Given the description of an element on the screen output the (x, y) to click on. 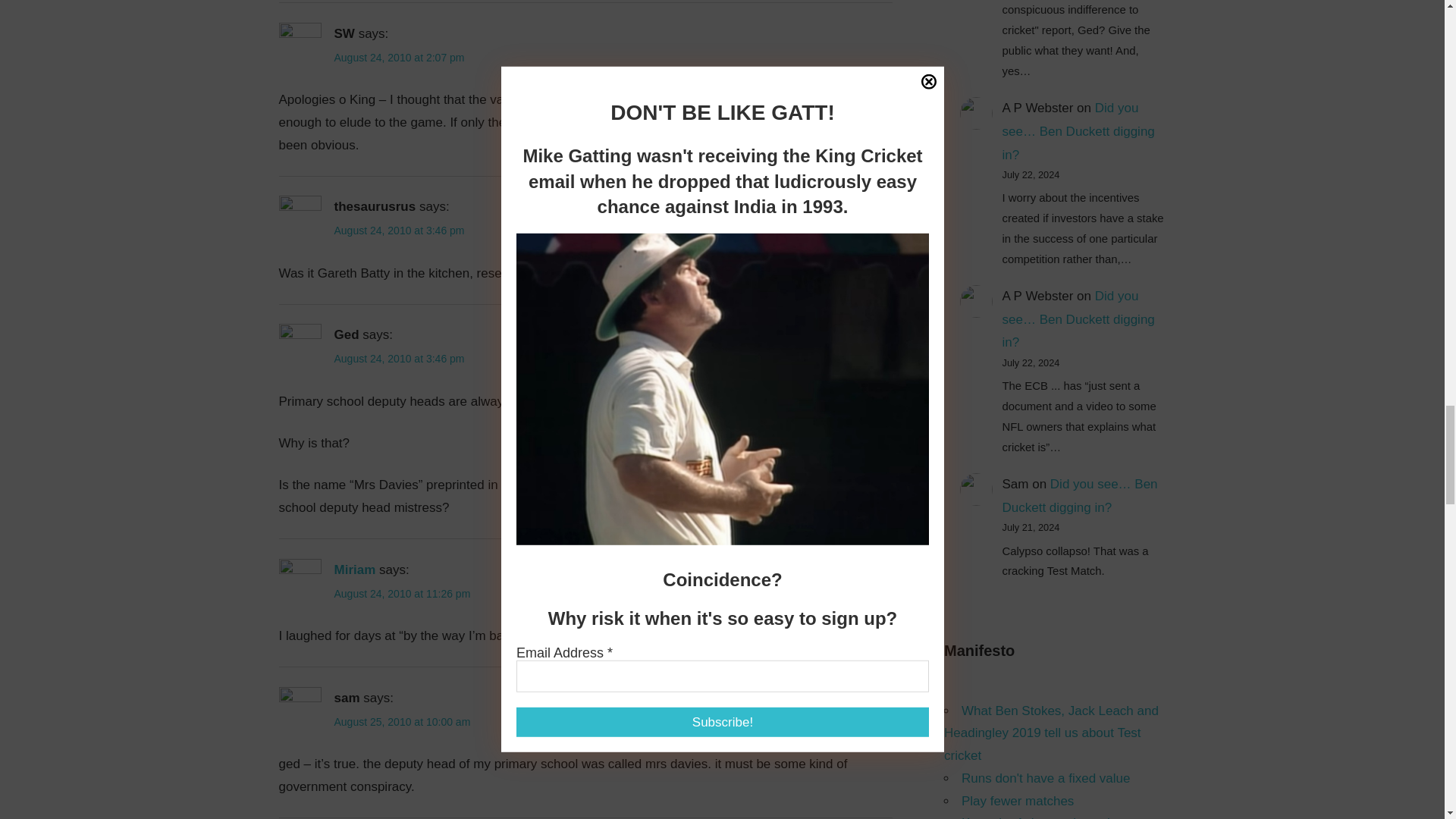
August 24, 2010 at 11:26 pm (401, 593)
August 24, 2010 at 2:07 pm (398, 57)
August 25, 2010 at 10:00 am (401, 721)
August 24, 2010 at 3:46 pm (398, 358)
Miriam (354, 569)
August 24, 2010 at 3:46 pm (398, 230)
